Given the description of an element on the screen output the (x, y) to click on. 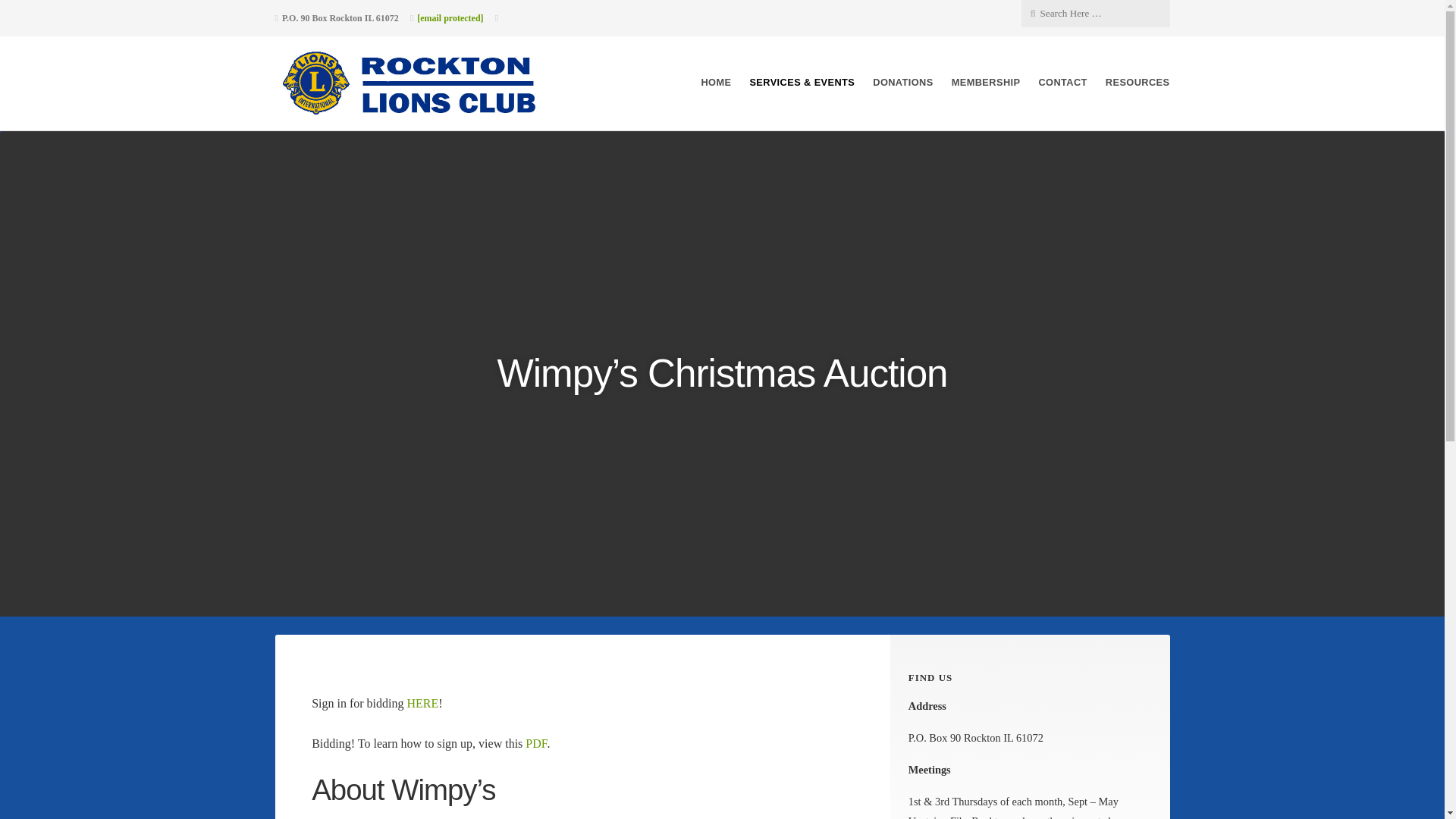
PDF (536, 743)
Go (116, 12)
DONATIONS (902, 82)
CONTACT (1062, 82)
RESOURCES (1137, 82)
HERE (423, 703)
HOME (715, 82)
MEMBERSHIP (986, 82)
